Given the description of an element on the screen output the (x, y) to click on. 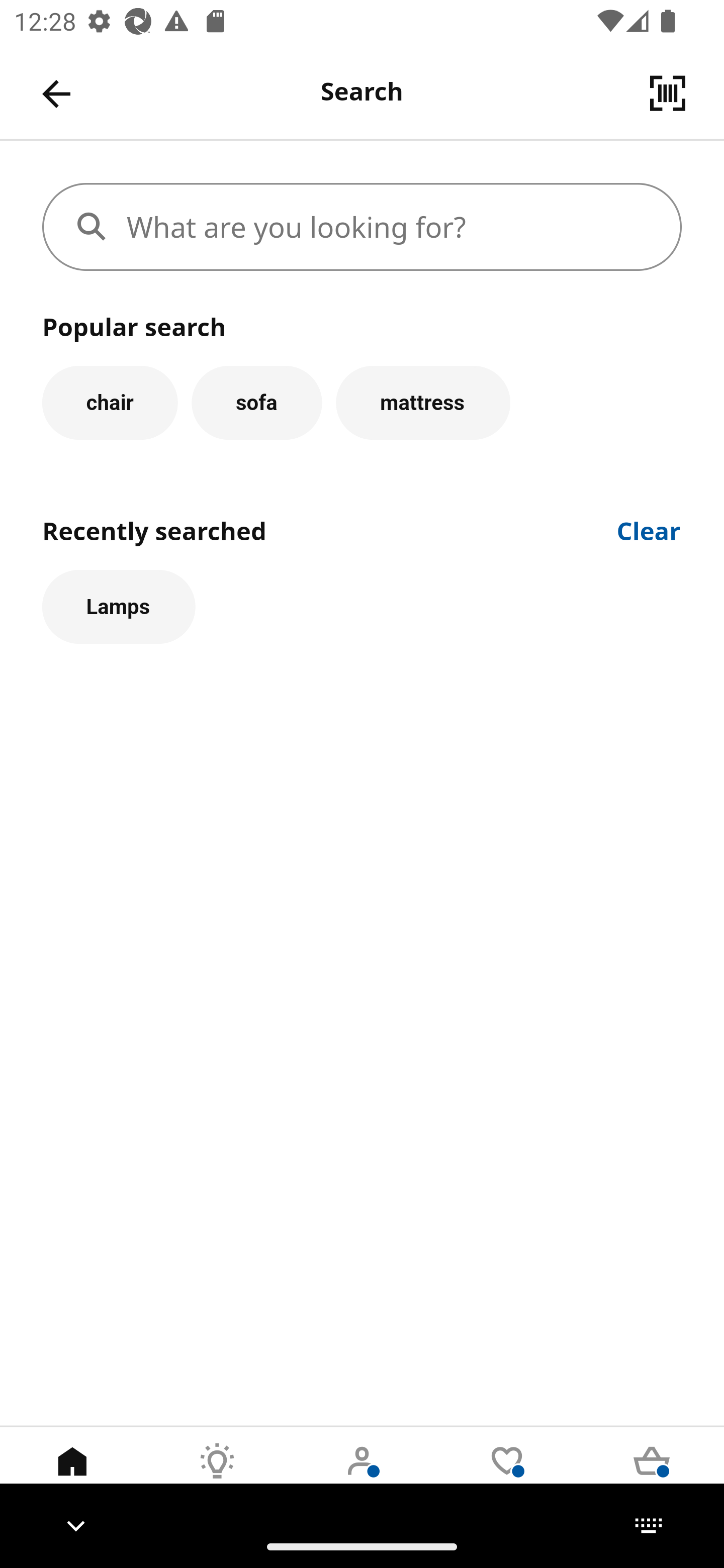
chair (109, 402)
sofa (256, 402)
mattress (423, 402)
Clear (649, 528)
Lamps (118, 606)
Home
Tab 1 of 5 (72, 1476)
Inspirations
Tab 2 of 5 (216, 1476)
User
Tab 3 of 5 (361, 1476)
Wishlist
Tab 4 of 5 (506, 1476)
Cart
Tab 5 of 5 (651, 1476)
